Given the description of an element on the screen output the (x, y) to click on. 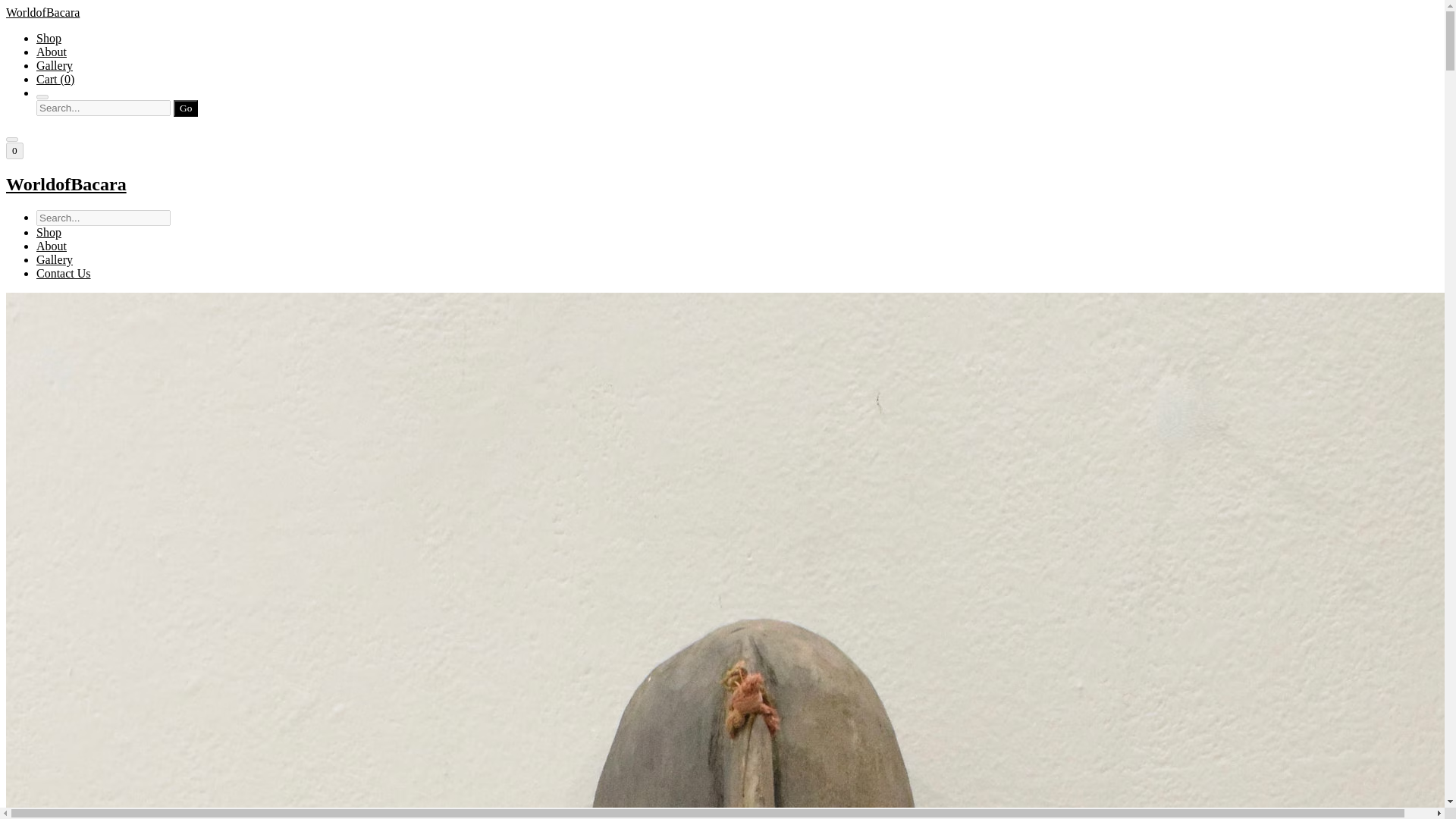
WorldofBacara (721, 184)
Go (185, 108)
About (51, 245)
Gallery (54, 259)
Contact Us (63, 273)
Go (185, 108)
Shop (48, 38)
Shop (48, 232)
0 (14, 150)
Gallery (54, 65)
About (51, 51)
